Given the description of an element on the screen output the (x, y) to click on. 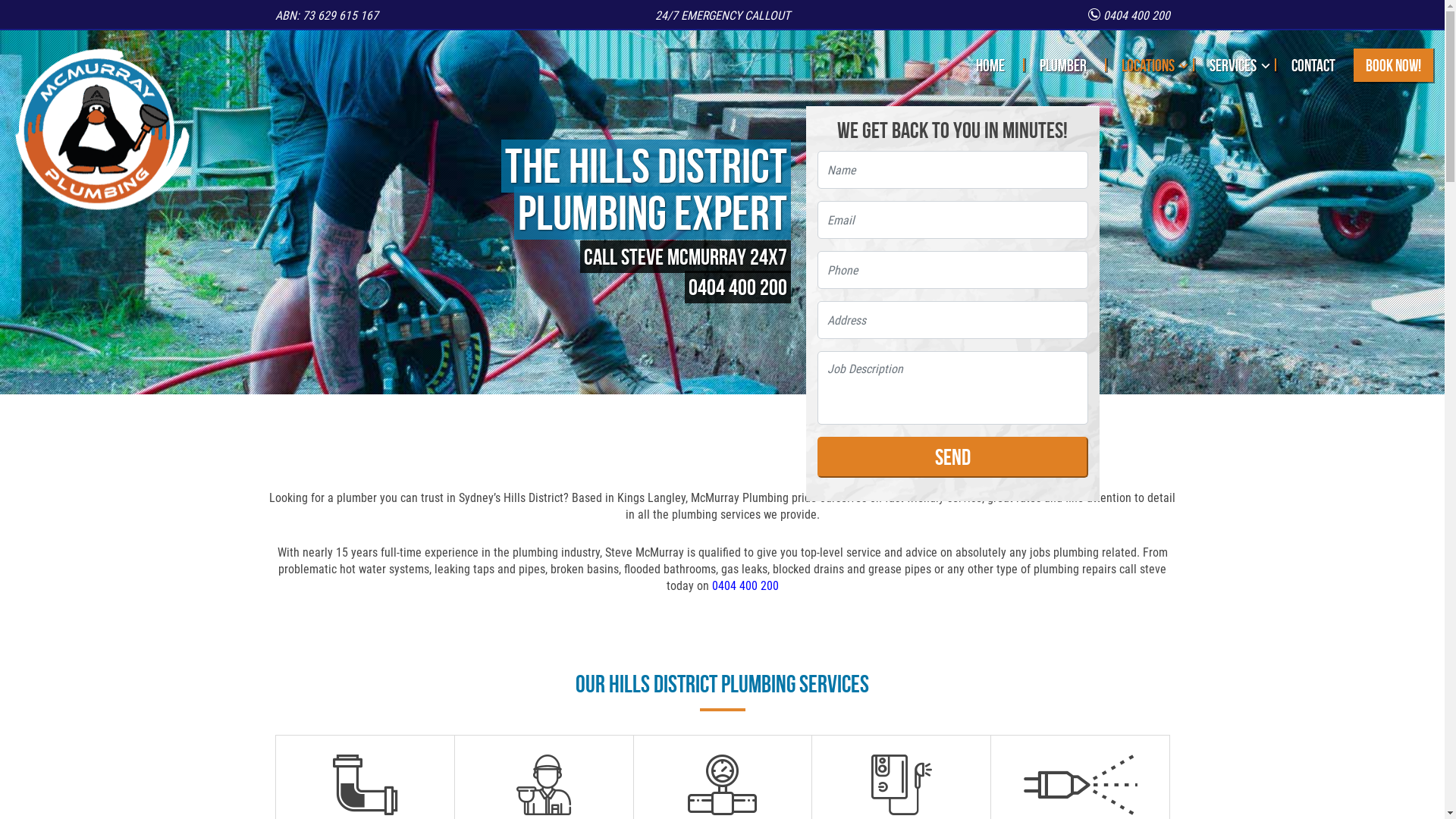
0404 400 200 Element type: text (1128, 15)
BOOK NOW! Element type: text (1393, 64)
CONTACT Element type: text (1313, 64)
0404 400 200 Element type: text (744, 585)
Services Element type: text (1232, 64)
Send Element type: text (952, 456)
Locations Element type: text (1147, 64)
Plumber Element type: text (1062, 64)
Home Element type: text (989, 64)
